Given the description of an element on the screen output the (x, y) to click on. 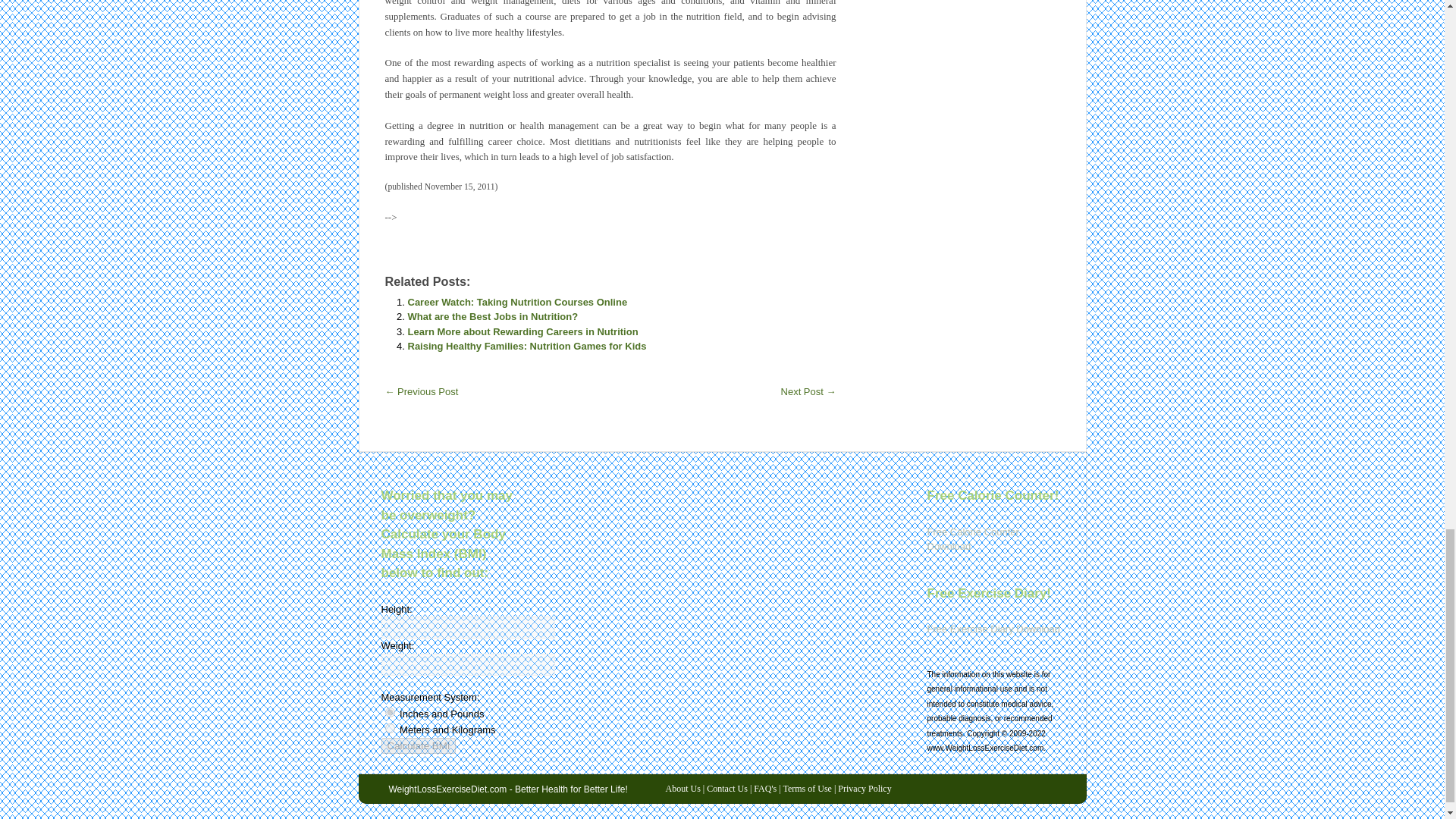
FAQ's (765, 787)
What are the Best Jobs in Nutrition? (492, 316)
Free Exercise Diary Download (992, 628)
Contact Us (727, 787)
Calculate BMI (417, 745)
Career Watch: Taking Nutrition Courses Online (517, 301)
Raising Healthy Families: Nutrition Games for Kids (526, 346)
english (389, 712)
About Us (682, 787)
Learn More about Rewarding Careers in Nutrition (523, 331)
metric (389, 728)
Better Health for Better Life! (507, 788)
Free Calorie Counter Download (971, 539)
